Given the description of an element on the screen output the (x, y) to click on. 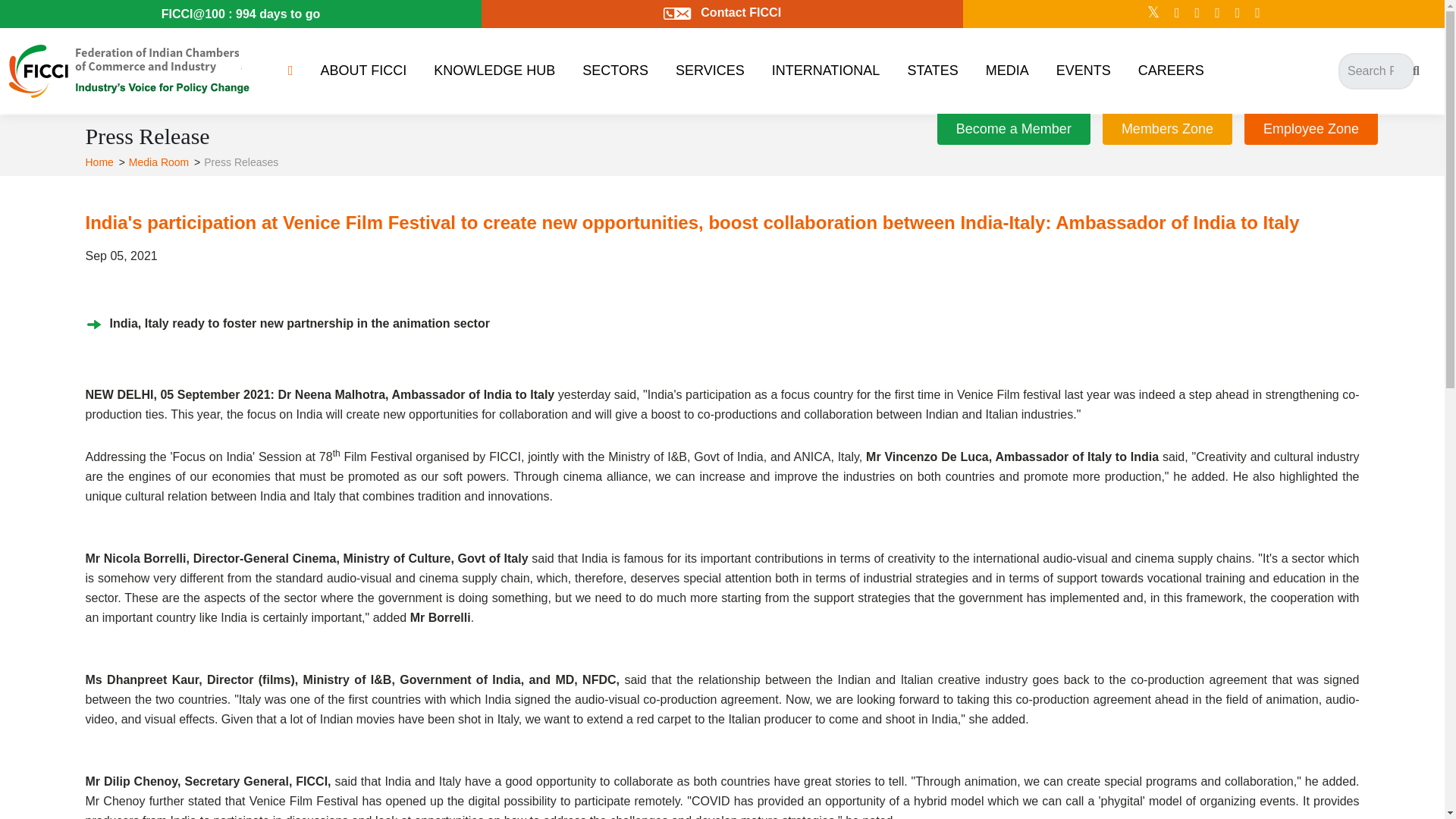
KNOWLEDGE HUB (494, 70)
ABOUT FICCI (363, 70)
Instagram (1198, 12)
Contact FICCI (721, 11)
Facebook (1177, 12)
Youtube (1237, 12)
Linkedin (1217, 12)
Twitter (1153, 12)
Blog (1257, 12)
SECTORS (615, 70)
